Given the description of an element on the screen output the (x, y) to click on. 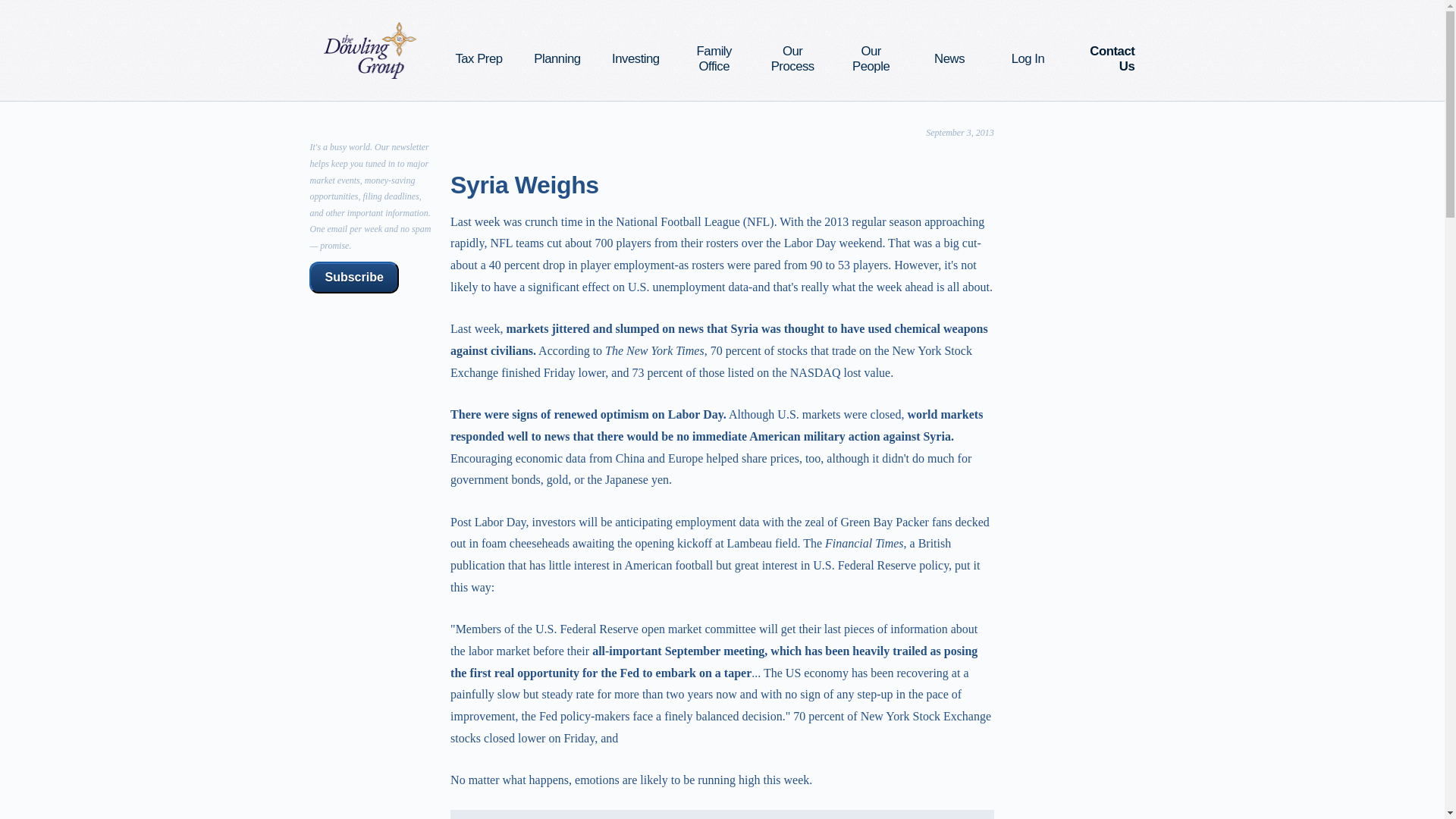
Log In (1027, 59)
Our People (871, 58)
Tax Prep (477, 59)
Planning (557, 59)
Subscribe (352, 277)
Our Process (792, 58)
Investing (635, 59)
Home (369, 50)
News (949, 59)
Family Office (713, 58)
Contact Us (1105, 58)
